Given the description of an element on the screen output the (x, y) to click on. 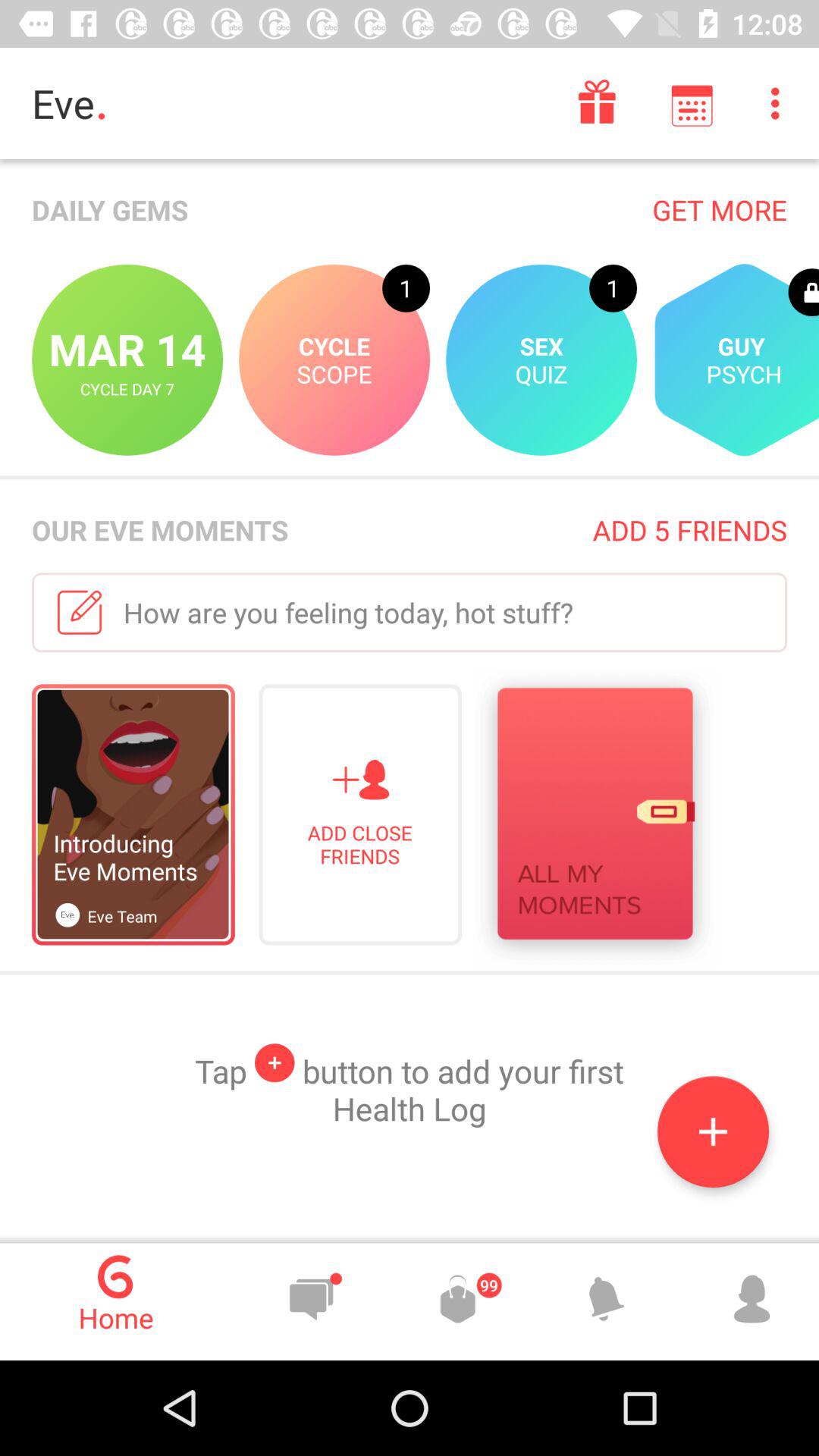
flip to get more (719, 209)
